Given the description of an element on the screen output the (x, y) to click on. 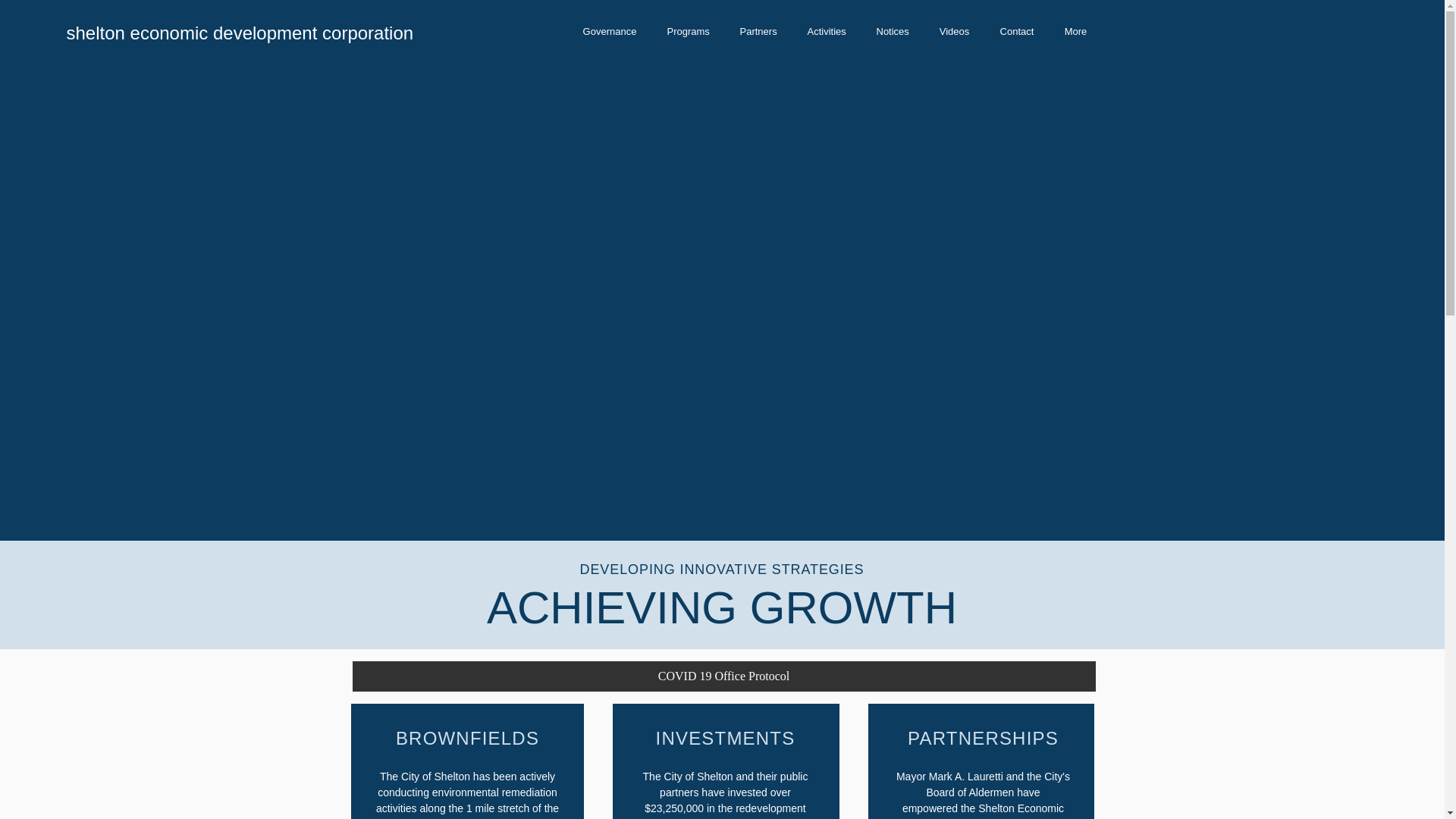
Notices (892, 31)
Partners (758, 31)
Contact (1016, 31)
Activities (826, 31)
COVID 19 Office Protocol (723, 675)
Governance (608, 31)
Videos (953, 31)
Programs (688, 31)
